Given the description of an element on the screen output the (x, y) to click on. 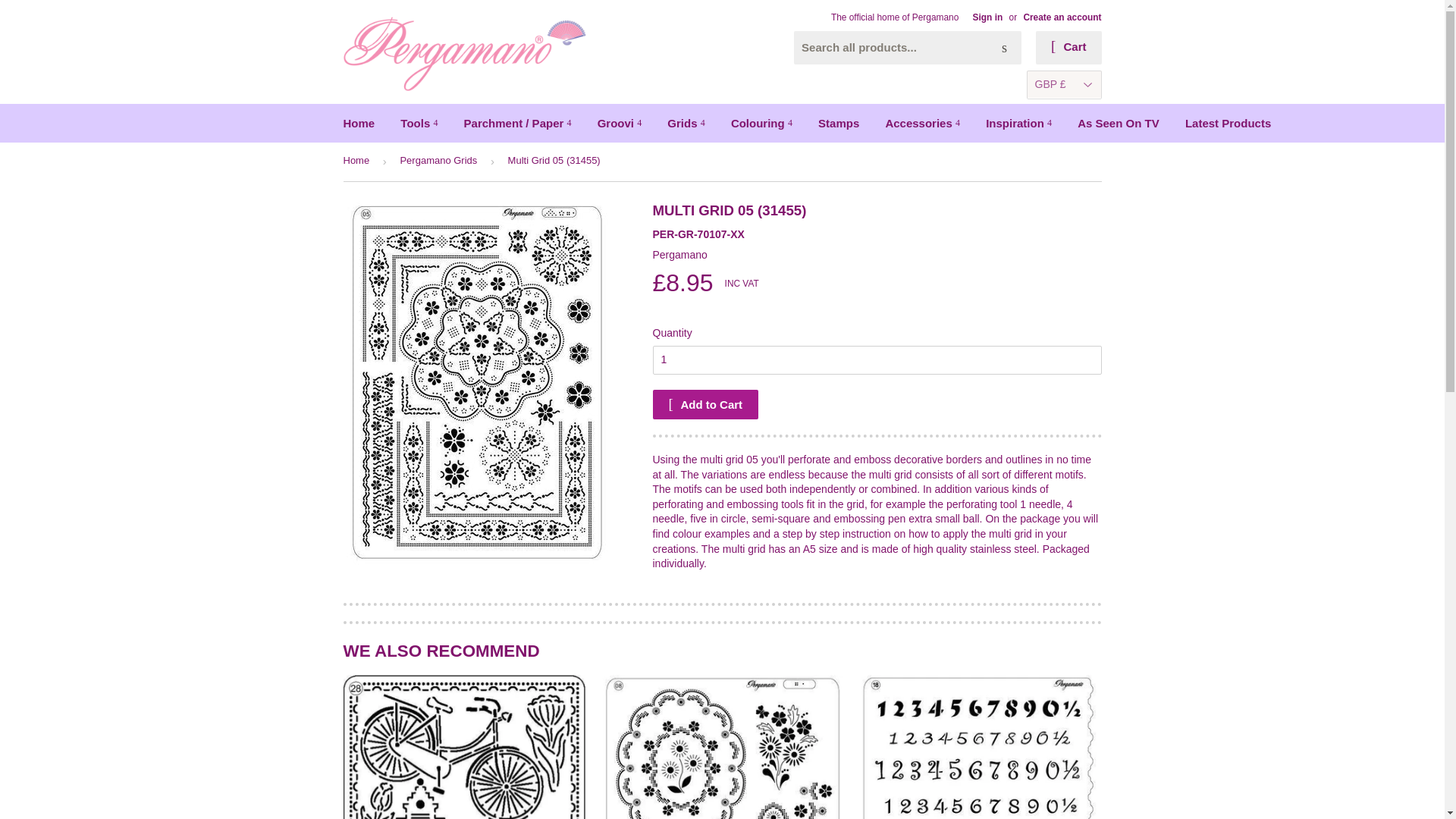
Colouring (761, 123)
Home (359, 123)
Accessories (922, 123)
Sign in (987, 17)
Groovi (619, 123)
Create an account (1061, 17)
Cart (1068, 47)
Tools (418, 123)
Stamps (838, 123)
1 (876, 359)
